Given the description of an element on the screen output the (x, y) to click on. 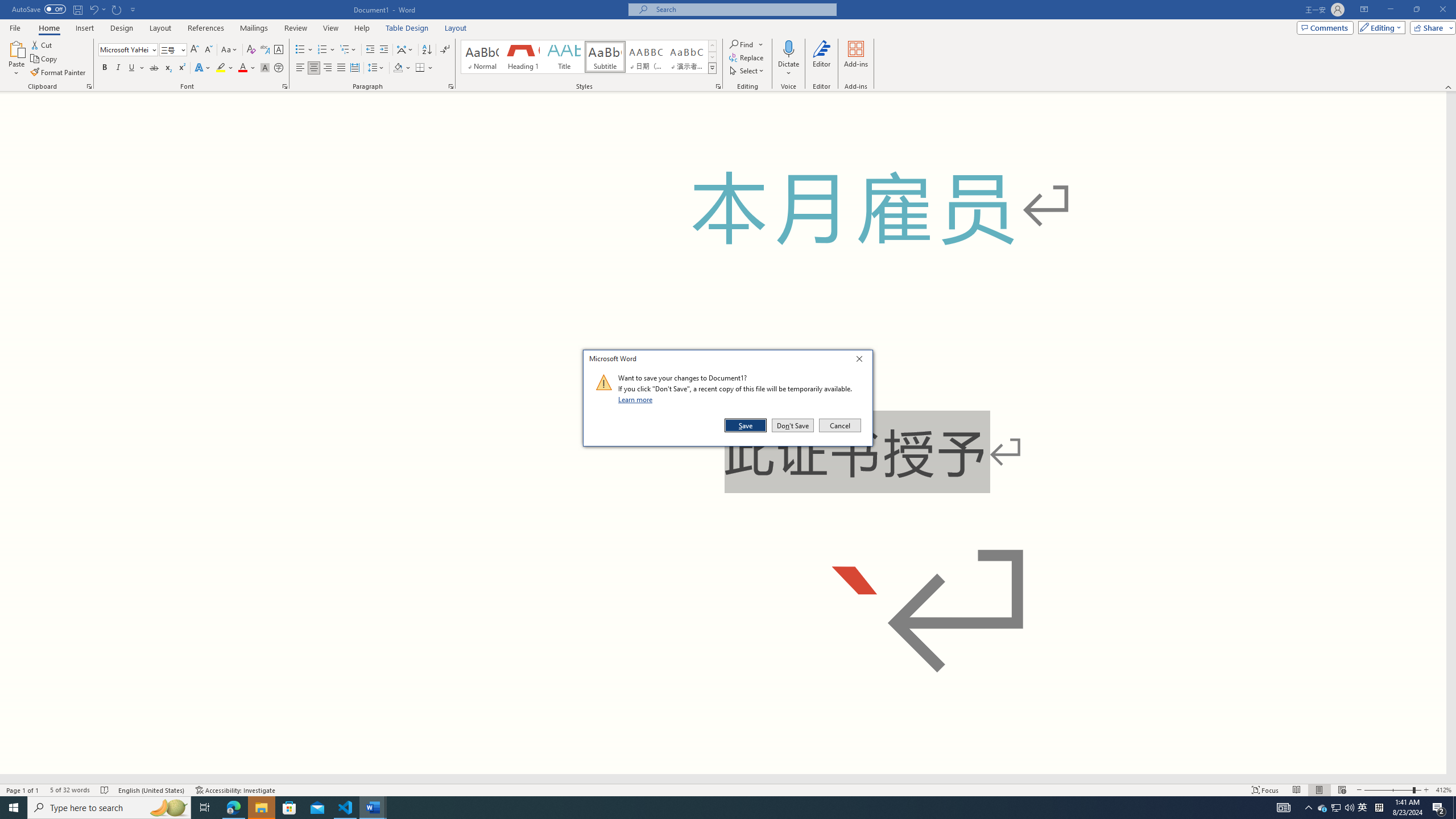
Font Color Red (241, 67)
Learn more (636, 399)
